Given the description of an element on the screen output the (x, y) to click on. 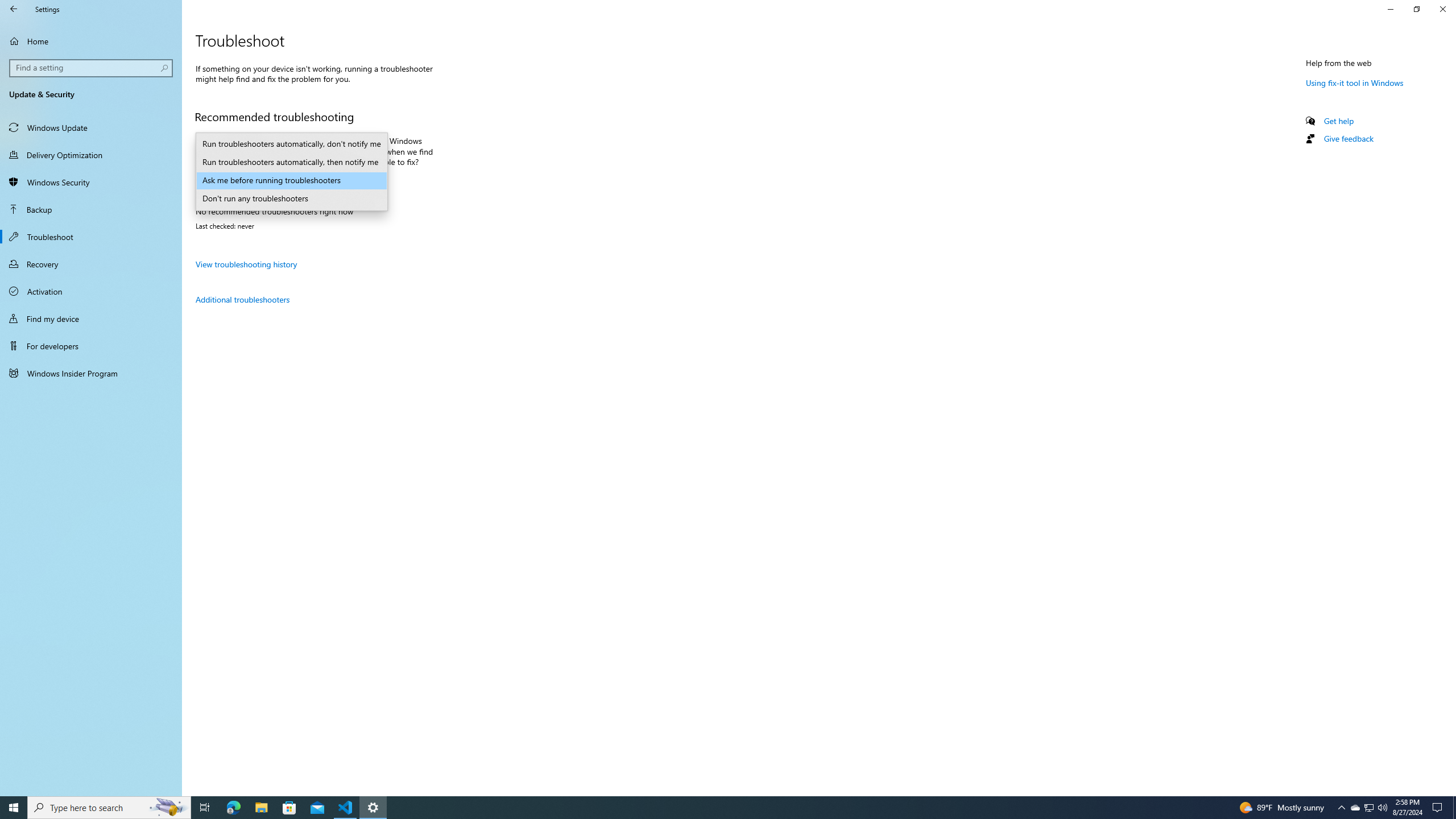
Windows Update (91, 126)
Find my device (91, 318)
Run troubleshooters automatically, then notify me (291, 162)
Troubleshoot (91, 236)
